Given the description of an element on the screen output the (x, y) to click on. 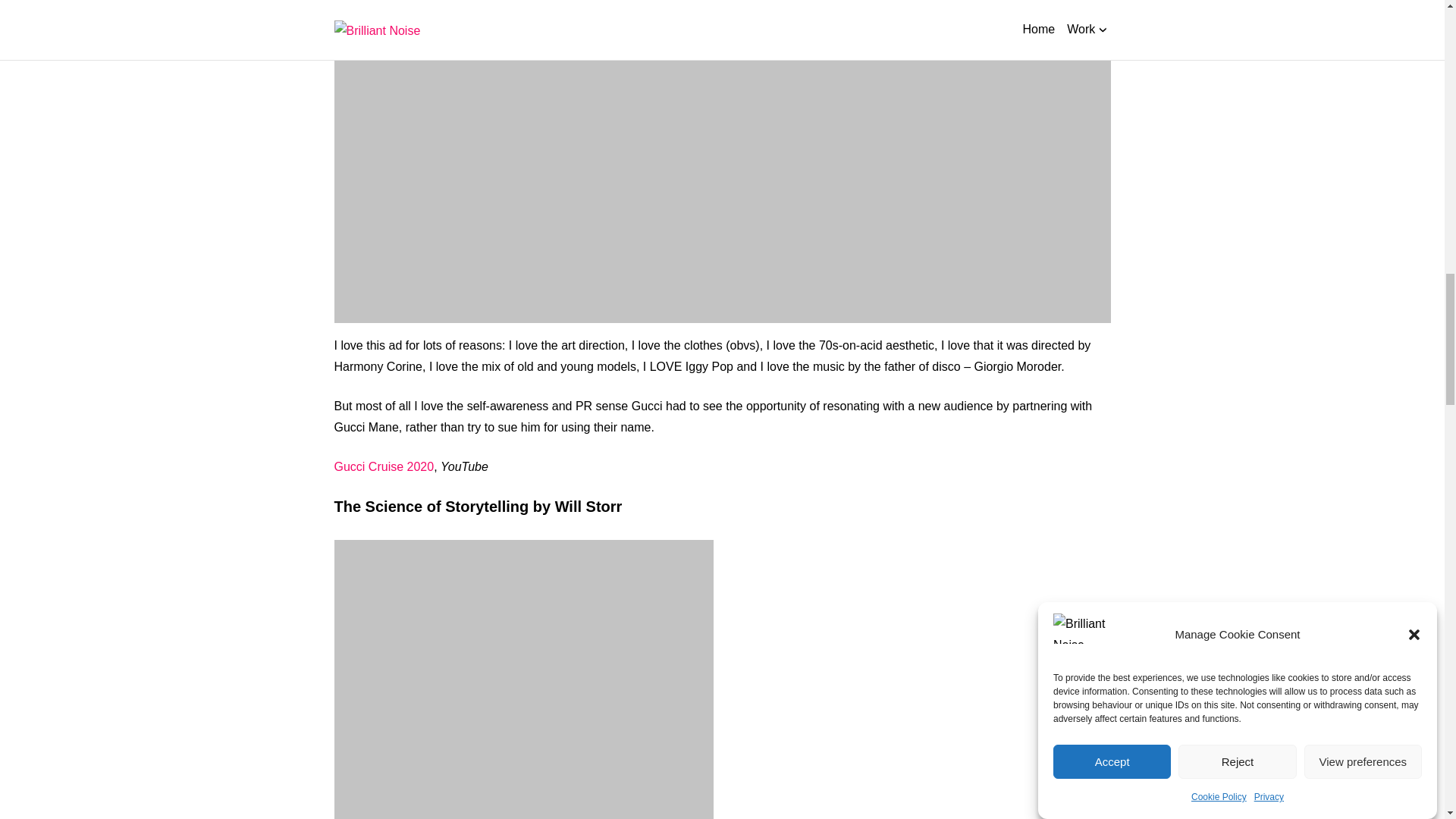
Gucci Cruise 2020 (383, 466)
